Given the description of an element on the screen output the (x, y) to click on. 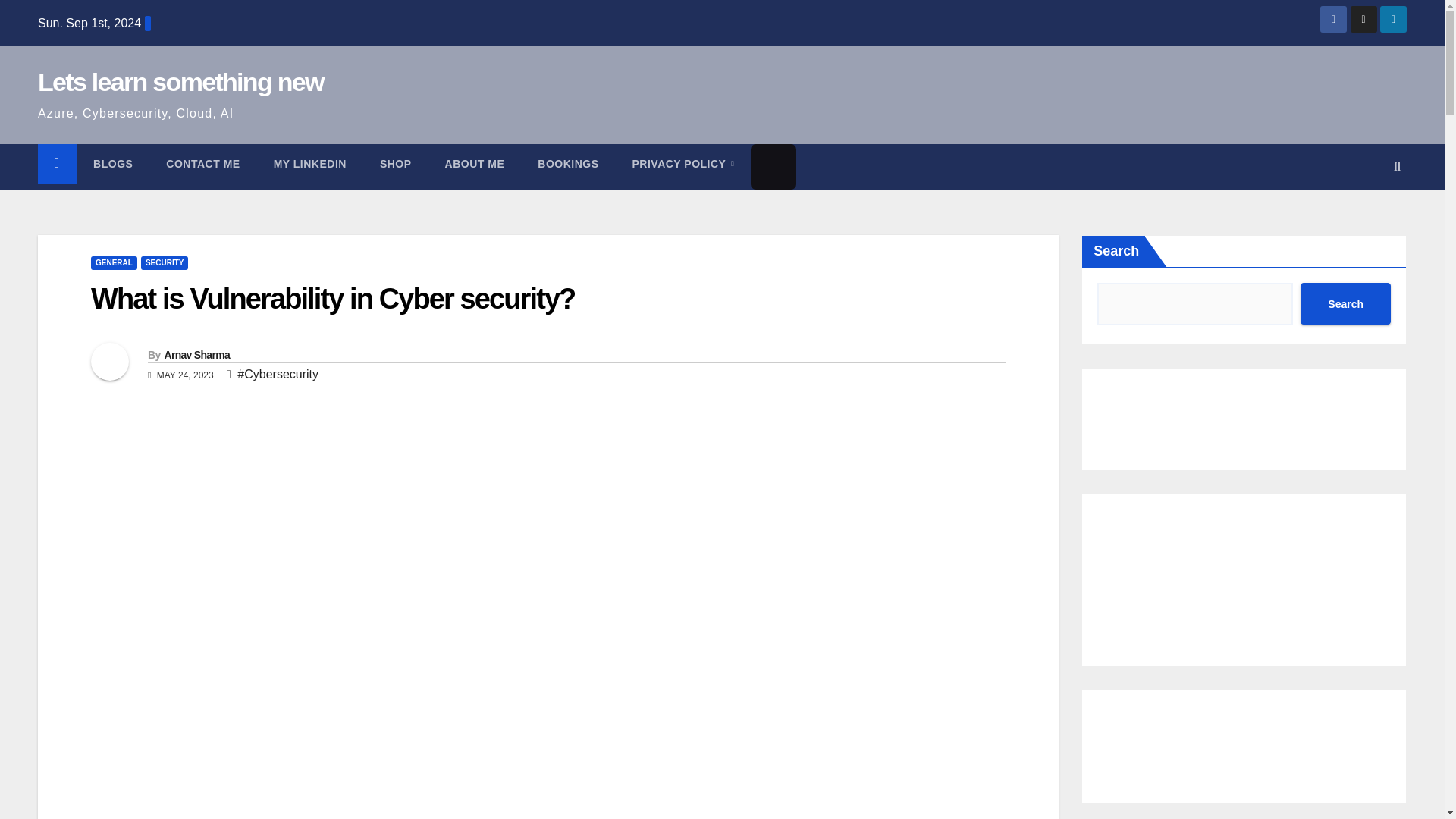
Shop (395, 163)
PRIVACY POLICY (683, 163)
SECURITY (165, 263)
Blogs (113, 163)
Bookings (567, 163)
GENERAL (113, 263)
About Me (474, 163)
SHOP (395, 163)
BLOGS (113, 163)
BOOKINGS (567, 163)
